Given the description of an element on the screen output the (x, y) to click on. 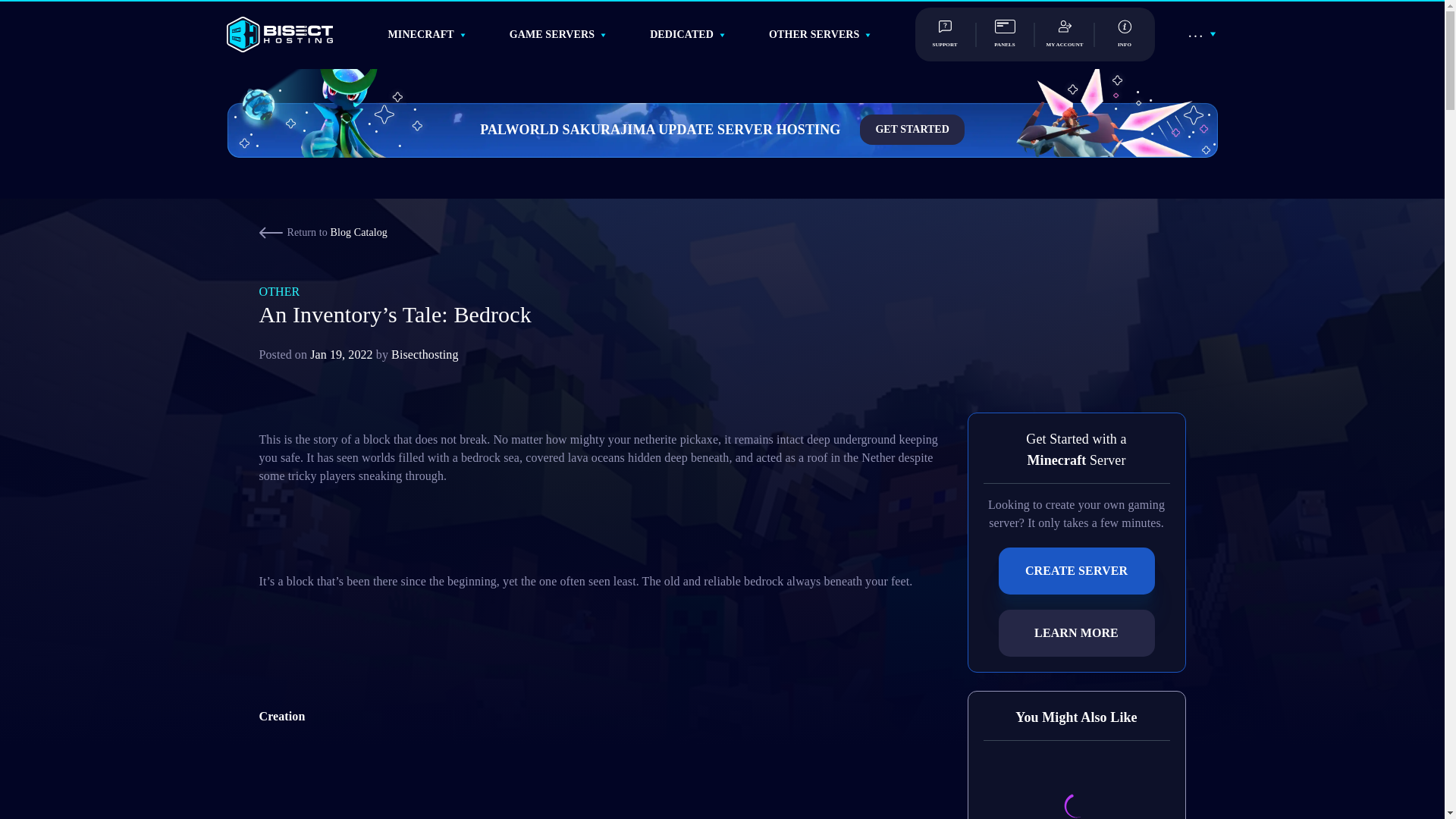
GAME SERVERS (551, 34)
MINECRAFT (421, 34)
